Given the description of an element on the screen output the (x, y) to click on. 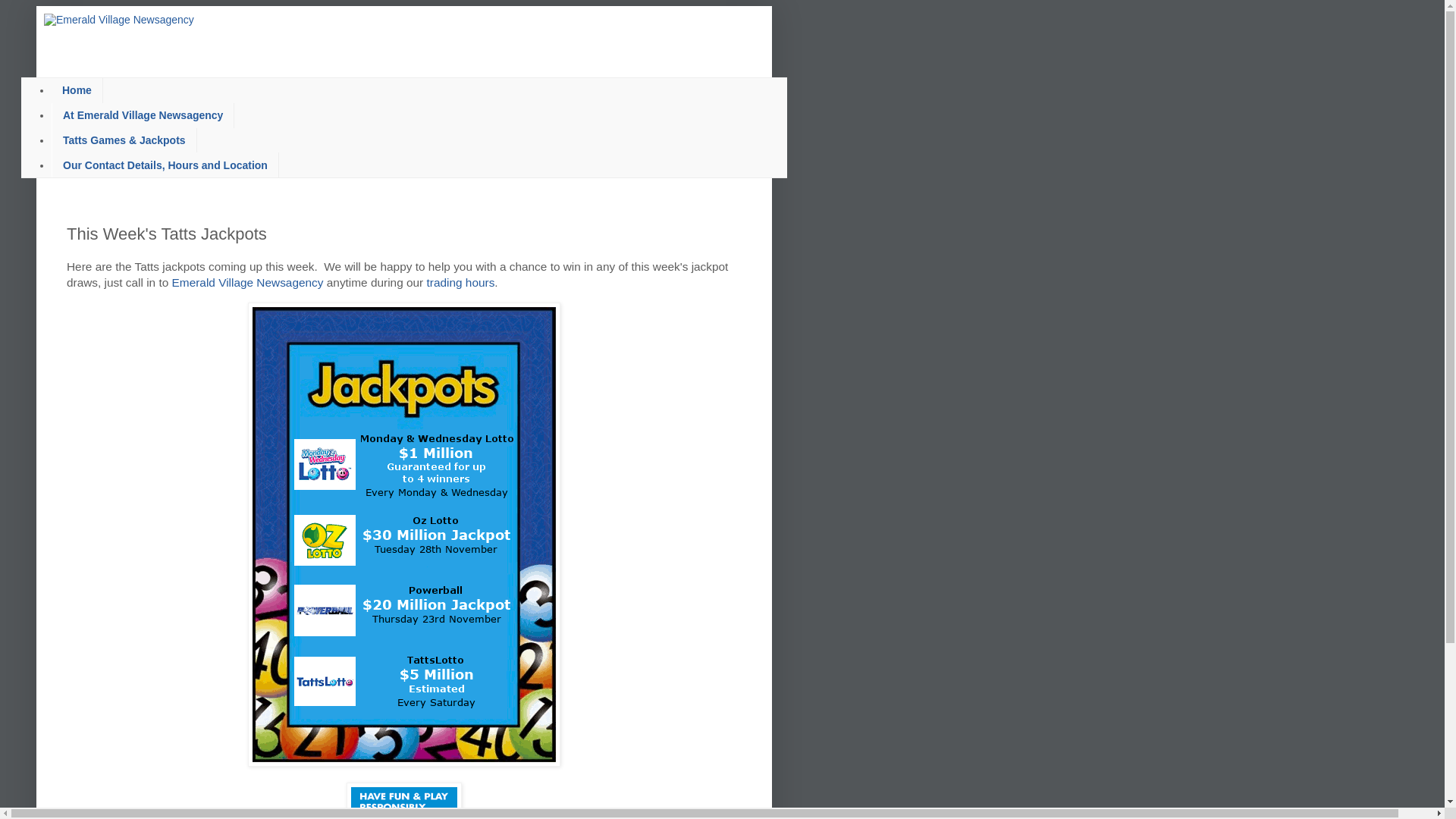
Home Element type: text (77, 90)
Emerald Village Newsagency Element type: text (247, 282)
Tatts Games & Jackpots Element type: text (124, 140)
trading hours Element type: text (460, 282)
Our Contact Details, Hours and Location Element type: text (165, 164)
Tatts Jackpots Element type: hover (403, 534)
At Emerald Village Newsagency Element type: text (142, 115)
